Given the description of an element on the screen output the (x, y) to click on. 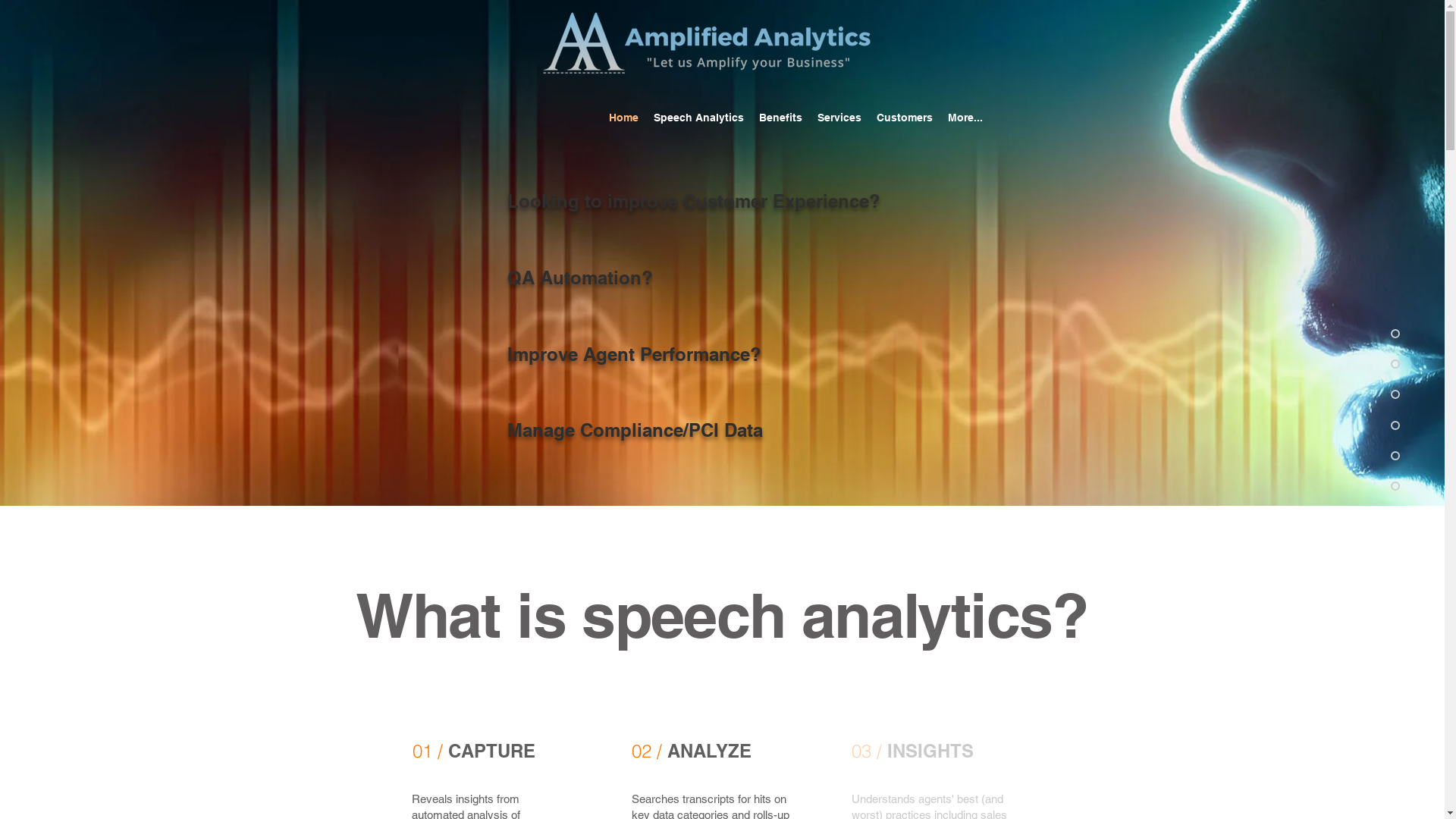
Customers Element type: text (904, 117)
Benefits Element type: text (780, 117)
Services Element type: text (839, 117)
Speech Analytics Element type: text (698, 117)
Home Element type: text (623, 117)
